Given the description of an element on the screen output the (x, y) to click on. 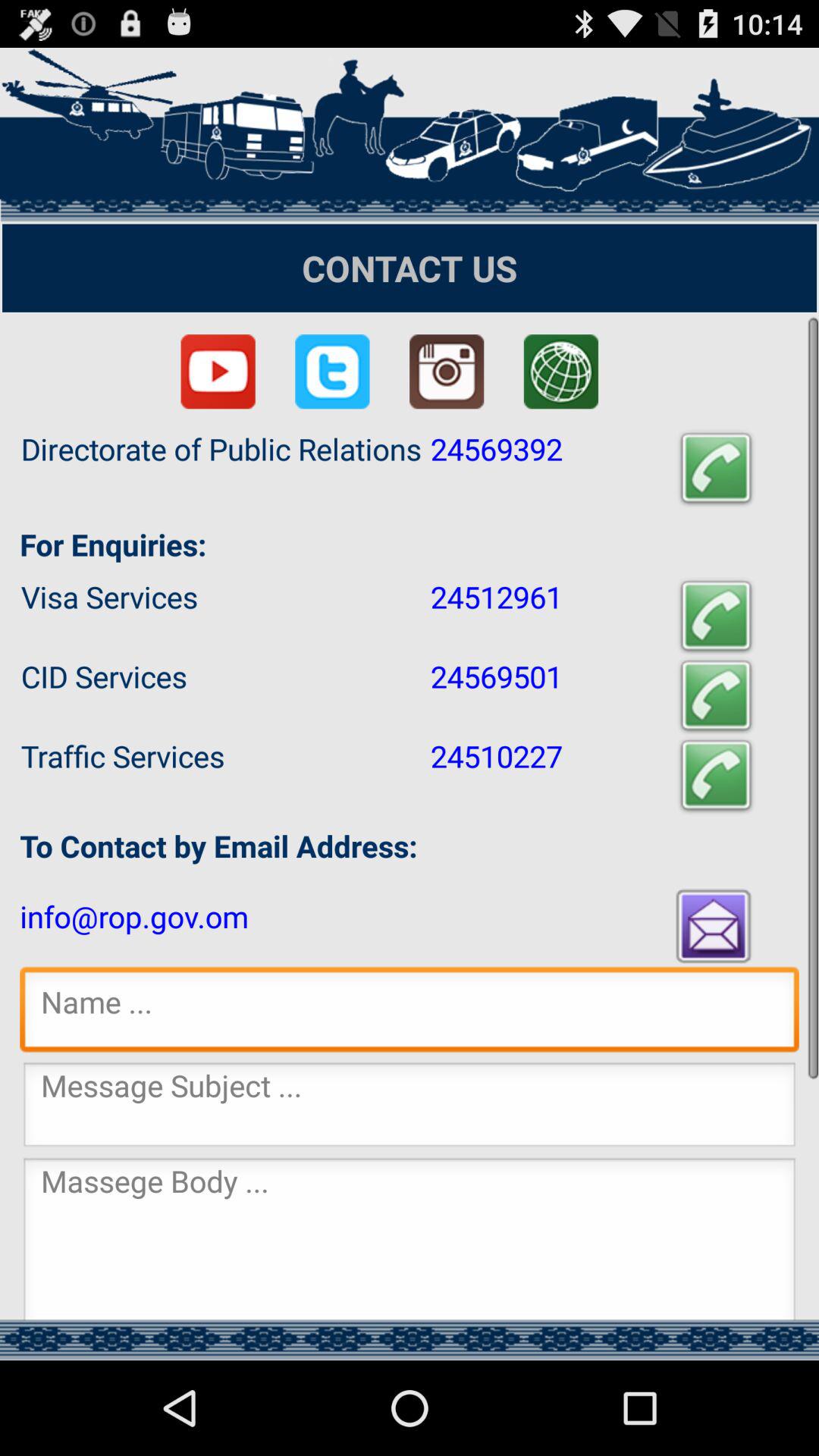
call visa services (716, 616)
